Given the description of an element on the screen output the (x, y) to click on. 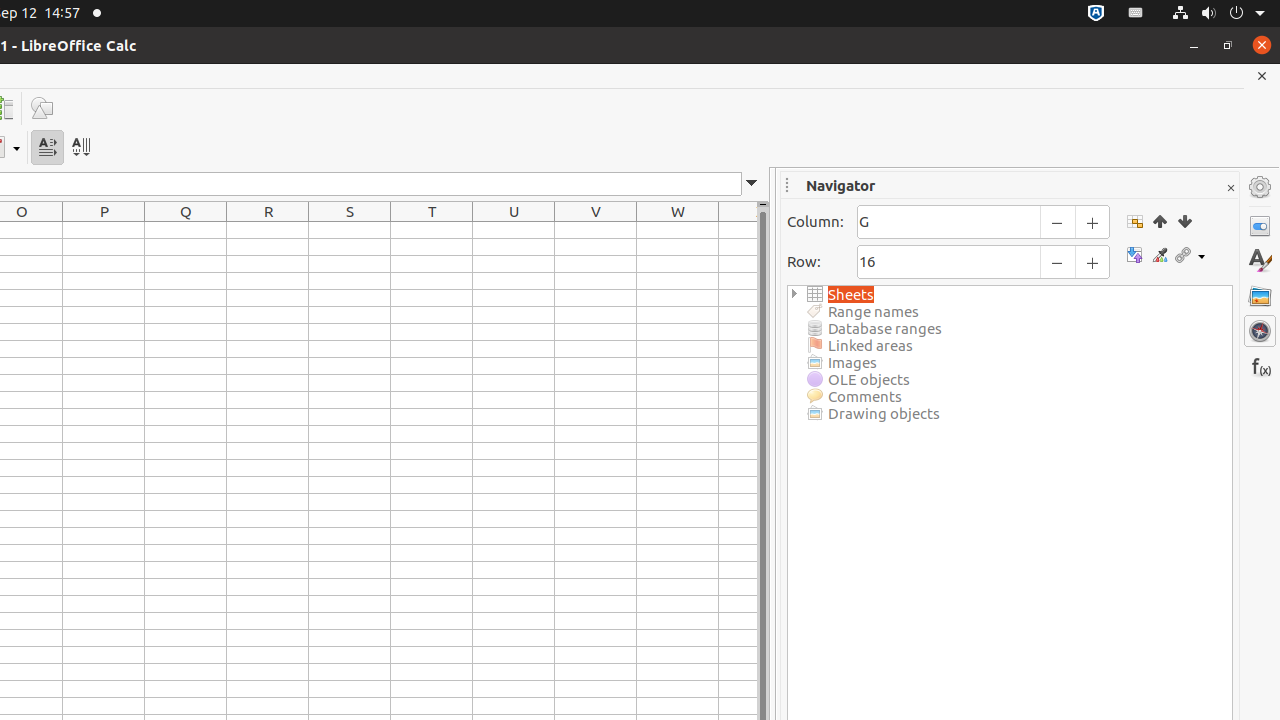
Scenarios Element type: push-button (1159, 255)
X1 Element type: table-cell (738, 230)
Expand Formula Bar Element type: push-button (752, 183)
S1 Element type: table-cell (350, 230)
:1.21/StatusNotifierItem Element type: menu (1136, 13)
